Given the description of an element on the screen output the (x, y) to click on. 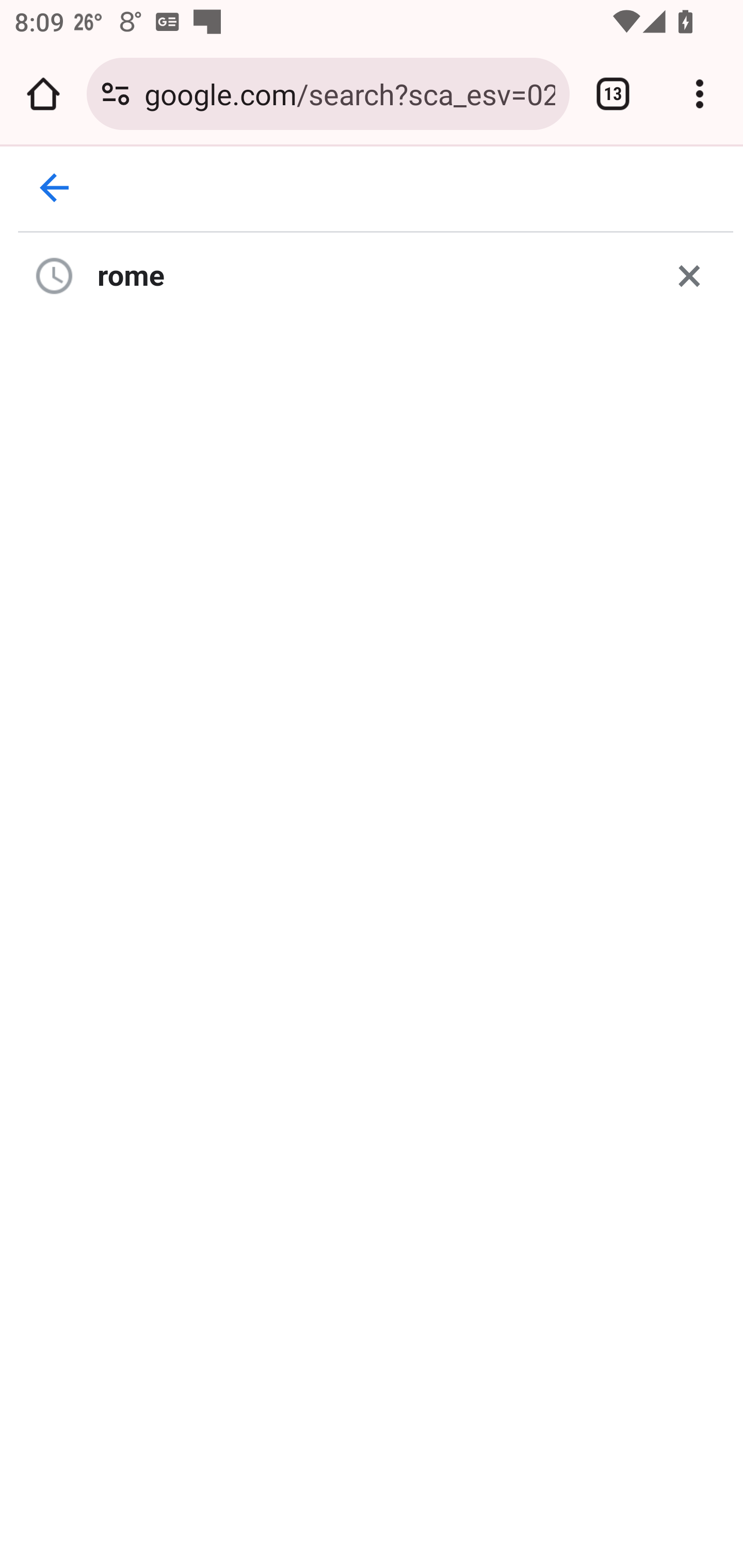
Open the home page (43, 93)
Connection is secure (115, 93)
Switch or close tabs (612, 93)
Customize and control Google Chrome (699, 93)
Back (54, 188)
rome Delete (375, 274)
Delete (689, 274)
